Given the description of an element on the screen output the (x, y) to click on. 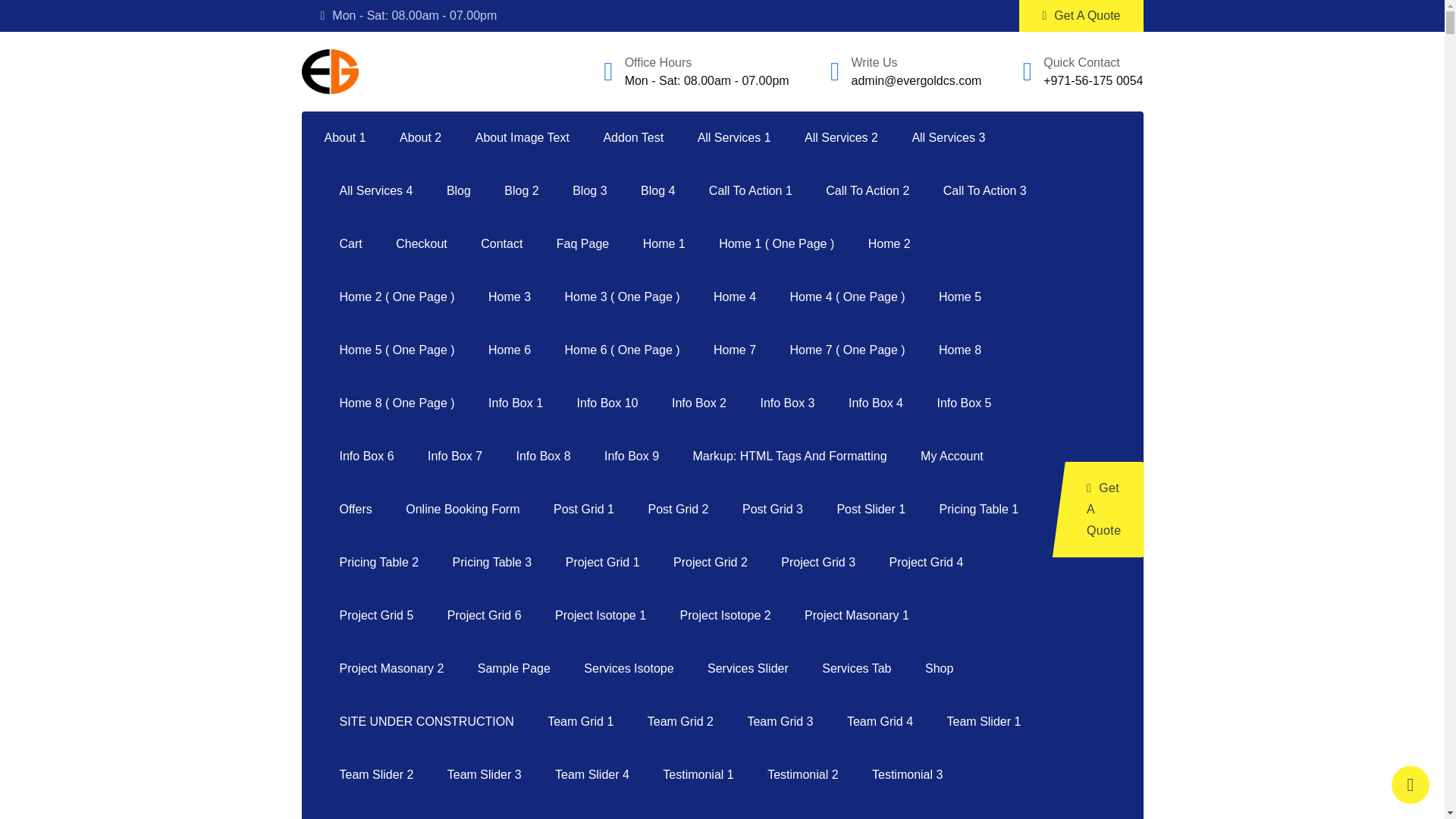
Call To Action 2 (867, 190)
All Services 4 (376, 190)
All Services 1 (734, 137)
Blog 3 (589, 190)
Home 2 (889, 244)
Blog 4 (658, 190)
Call To Action 1 (751, 190)
All Services 3 (948, 137)
All Services 2 (841, 137)
Get A Quote (1080, 15)
Home 7 (734, 349)
About 1 (352, 137)
Home 1 (663, 244)
Cart (350, 244)
Contact (501, 244)
